Given the description of an element on the screen output the (x, y) to click on. 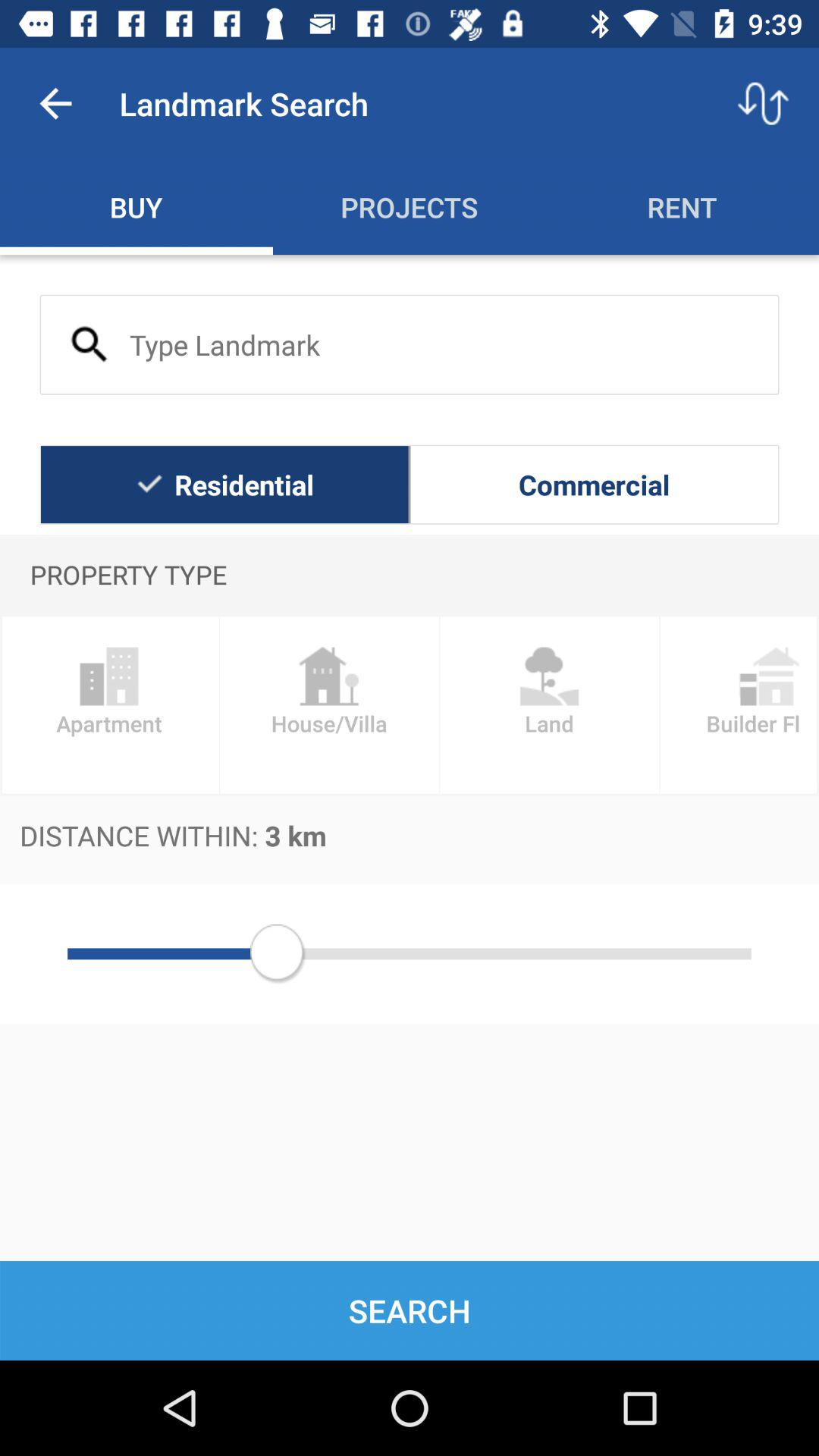
click item below property type icon (739, 704)
